Given the description of an element on the screen output the (x, y) to click on. 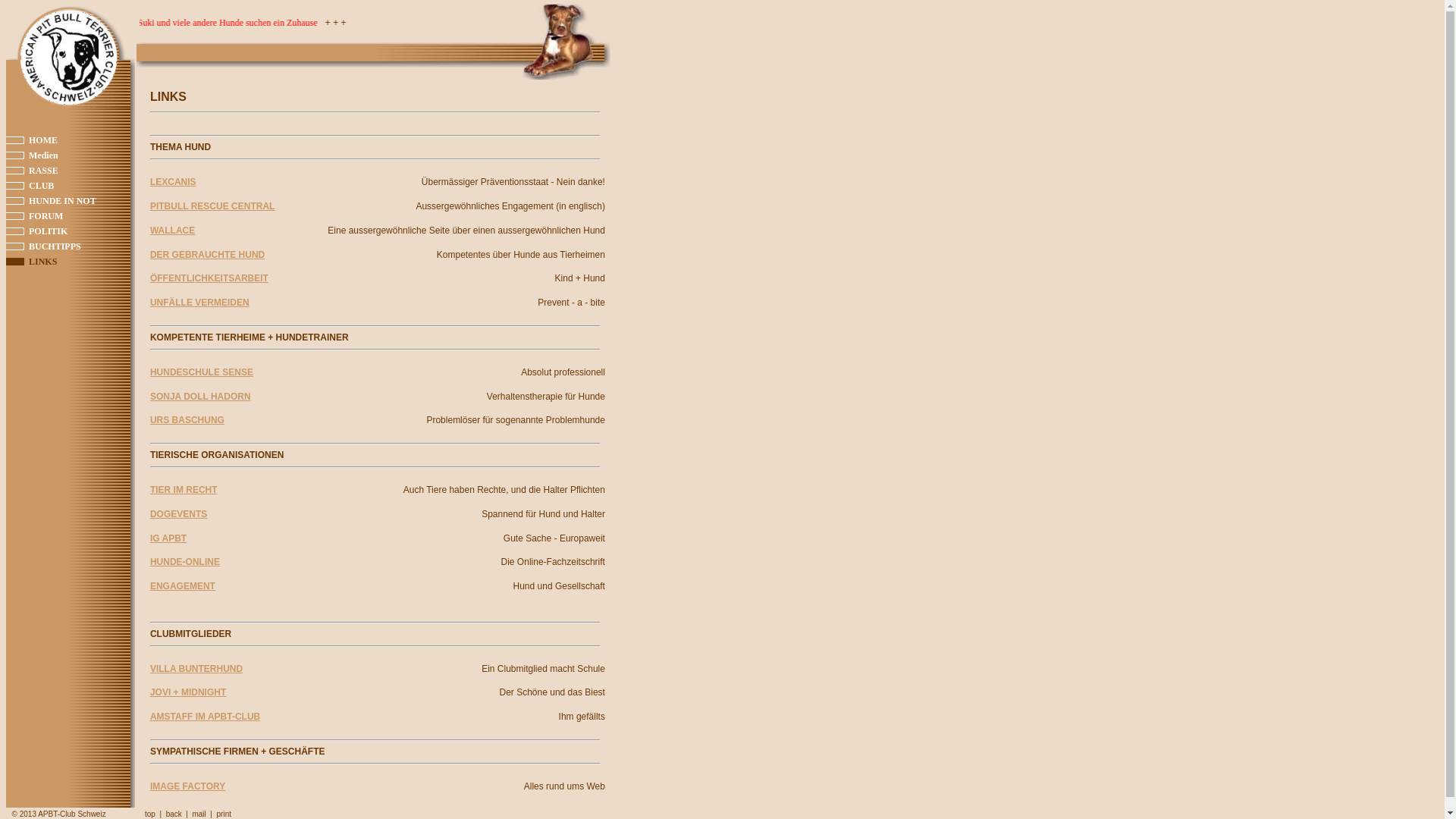
DER GEBRAUCHTE HUND Element type: text (207, 254)
HOME Element type: text (42, 139)
POLITIK Element type: text (47, 230)
AMSTAFF IM APBT-CLUB Element type: text (205, 716)
HUNDE IN NOT Element type: text (62, 200)
LINKS Element type: text (42, 261)
TIER IM RECHT Element type: text (183, 489)
IG APBT Element type: text (168, 538)
BUCHTIPPS Element type: text (54, 246)
WALLACE Element type: text (172, 230)
ENGAGEMENT Element type: text (182, 585)
SONJA DOLL HADORN Element type: text (200, 396)
HUNDESCHULE SENSE Element type: text (201, 372)
Medien Element type: text (43, 155)
HUNDE-ONLINE Element type: text (184, 561)
IMAGE FACTORY Element type: text (187, 786)
mail Element type: text (198, 813)
FORUM Element type: text (45, 215)
VILLA BUNTERHUND Element type: text (196, 668)
DOGEVENTS Element type: text (178, 513)
back Element type: text (174, 813)
CLUB Element type: text (40, 185)
JOVI + MIDNIGHT Element type: text (187, 692)
top Element type: text (149, 813)
RASSE Element type: text (43, 170)
PITBULL RESCUE CENTRAL Element type: text (212, 205)
print Element type: text (223, 813)
LEXCANIS Element type: text (173, 181)
Deeon, Suki und viele andere Hunde suchen ein Zuhause Element type: text (499, 22)
URS BASCHUNG Element type: text (187, 419)
